Given the description of an element on the screen output the (x, y) to click on. 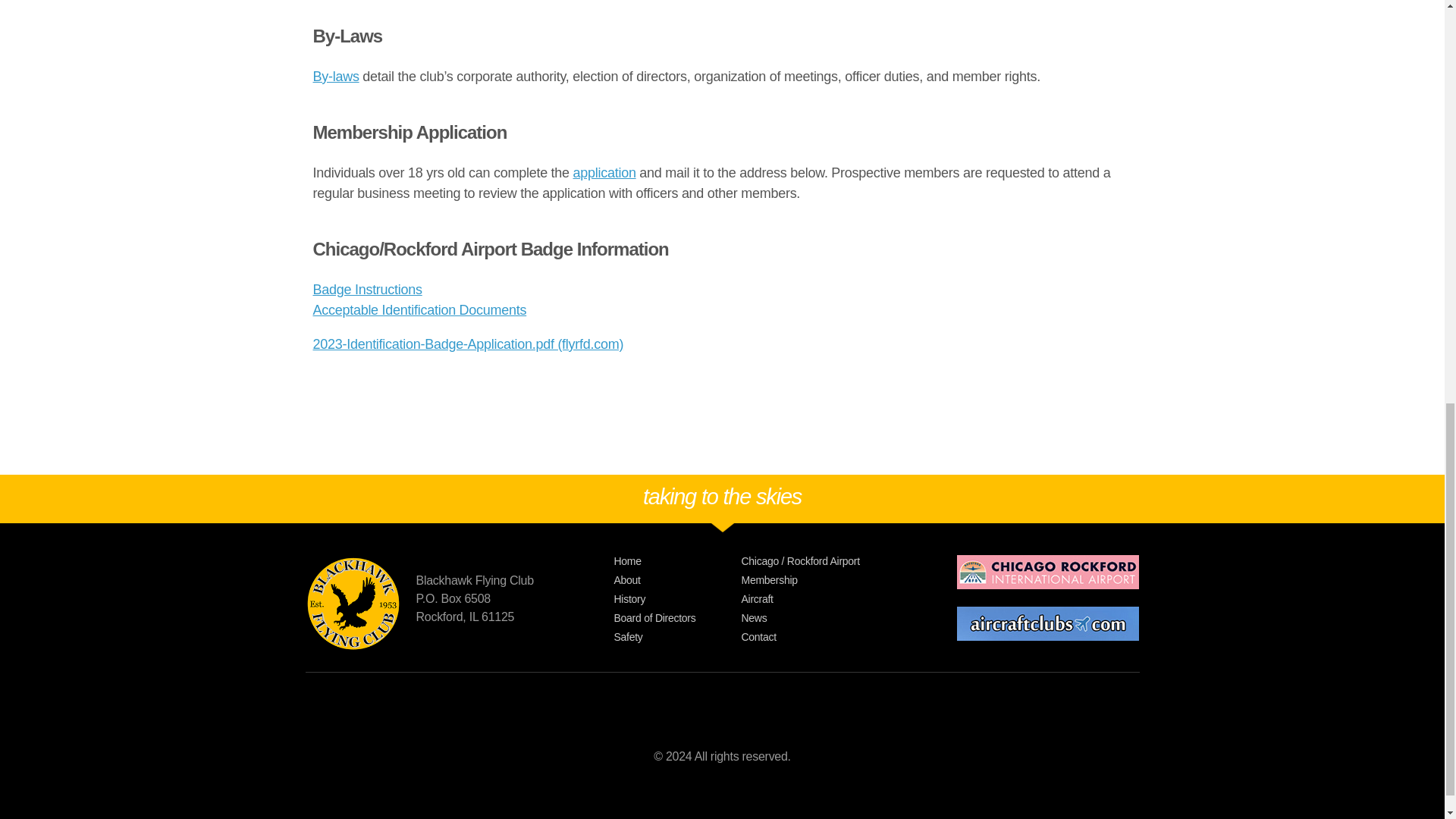
Contact (836, 637)
History (677, 599)
Acceptable Identification Documents (419, 309)
About (677, 580)
Membership (836, 580)
application (604, 172)
By-laws (335, 76)
Badge Instructions (367, 289)
Safety (677, 637)
Board of Directors (677, 618)
News (836, 618)
Home (677, 561)
Aircraft (836, 599)
